Given the description of an element on the screen output the (x, y) to click on. 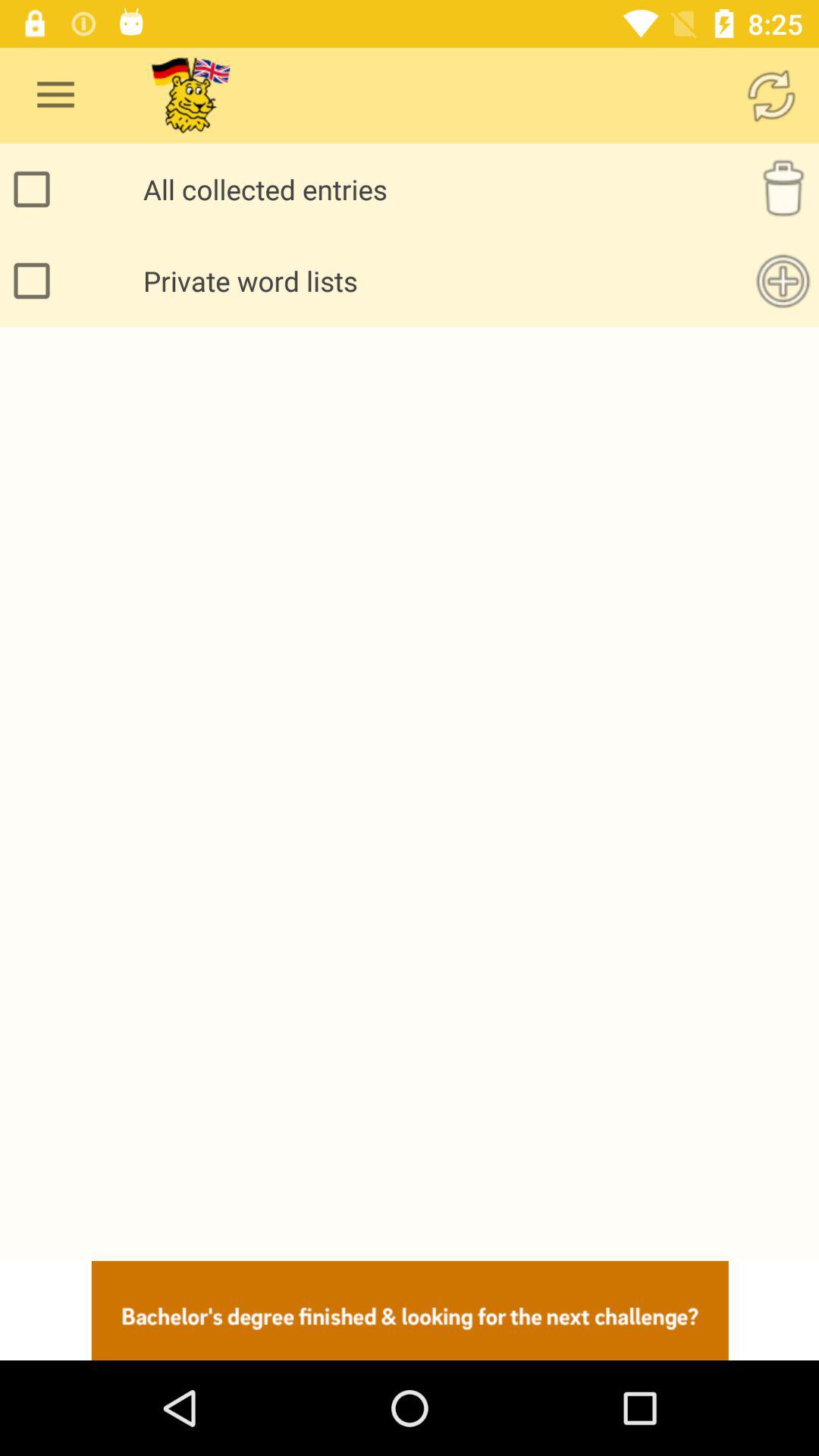
refresh the current page (771, 95)
